Given the description of an element on the screen output the (x, y) to click on. 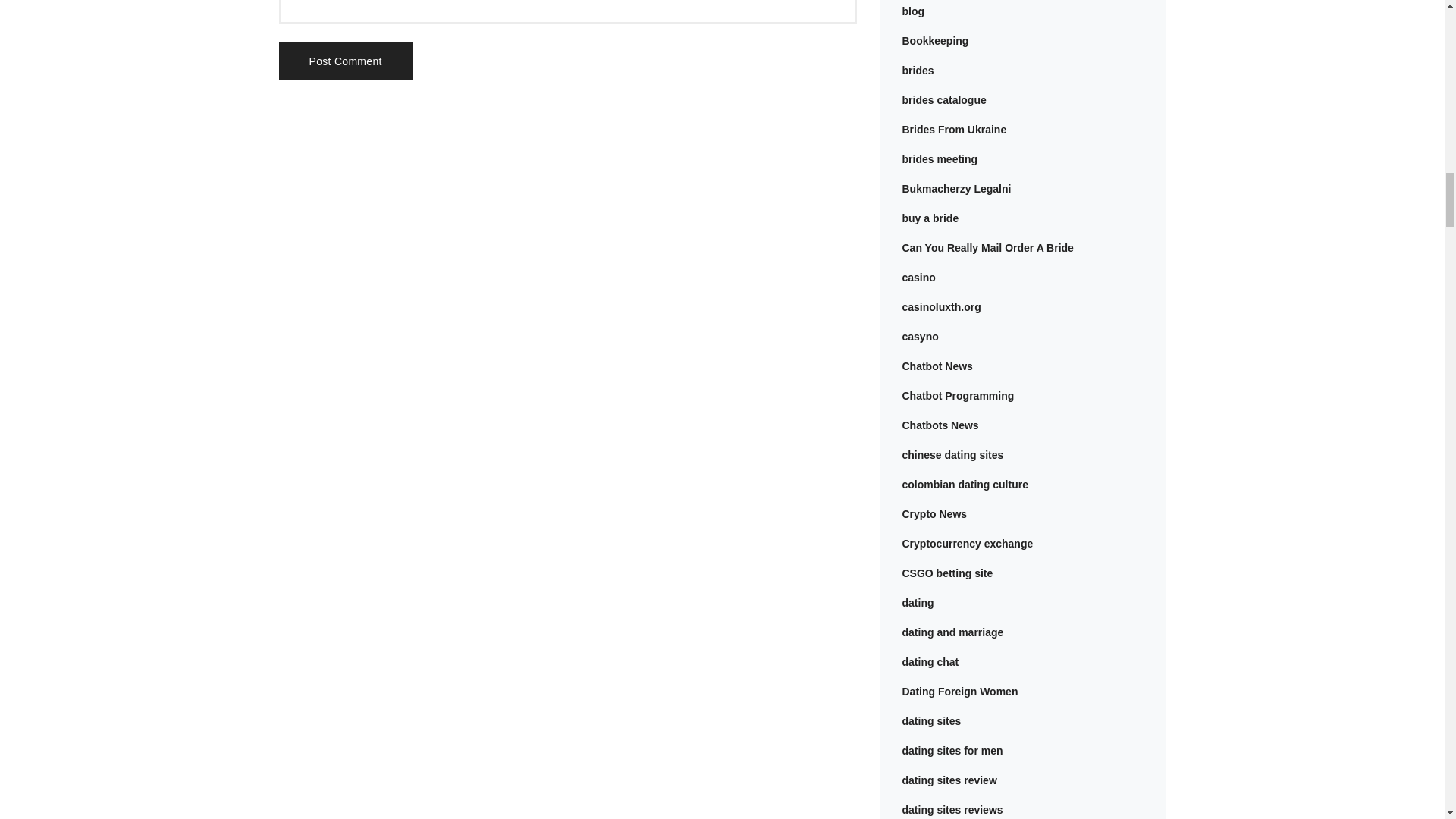
Post Comment (345, 61)
